Given the description of an element on the screen output the (x, y) to click on. 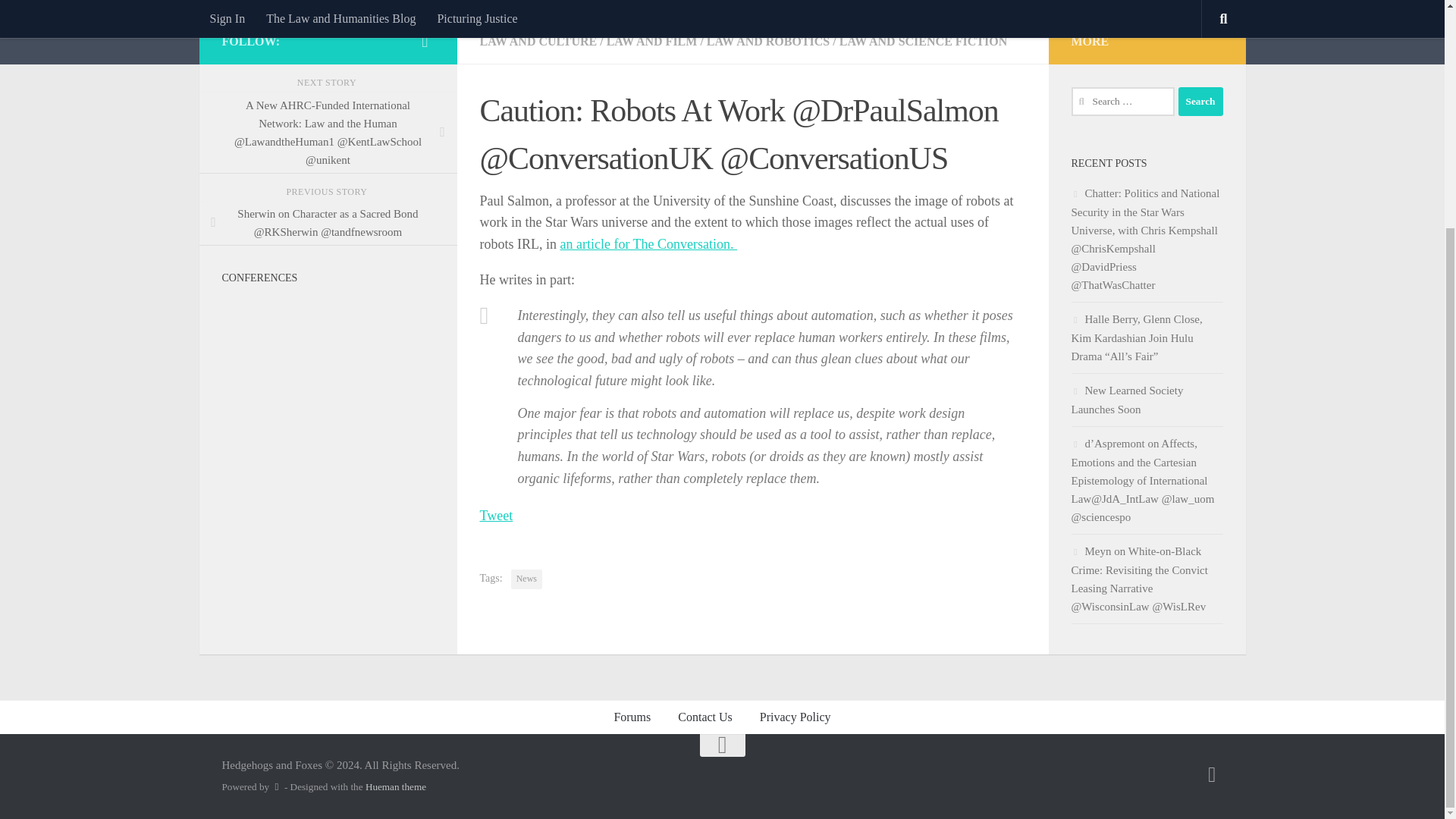
Search (1200, 101)
Hueman theme (395, 786)
Follow us on Twitter (423, 40)
Follow us on Twitter (1212, 774)
Search (1200, 101)
Powered by WordPress (275, 786)
